Given the description of an element on the screen output the (x, y) to click on. 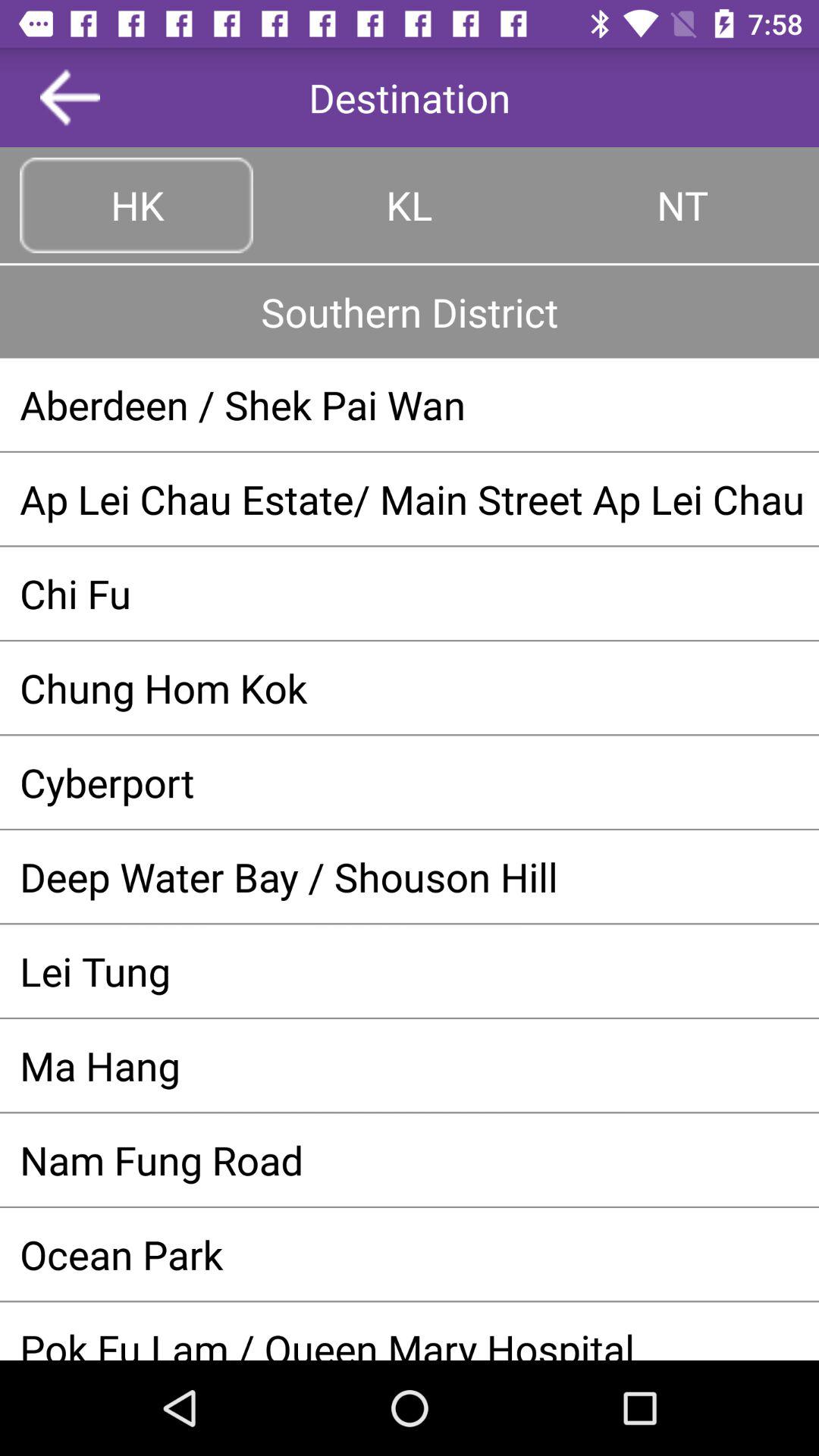
scroll until ocean park app (409, 1253)
